Given the description of an element on the screen output the (x, y) to click on. 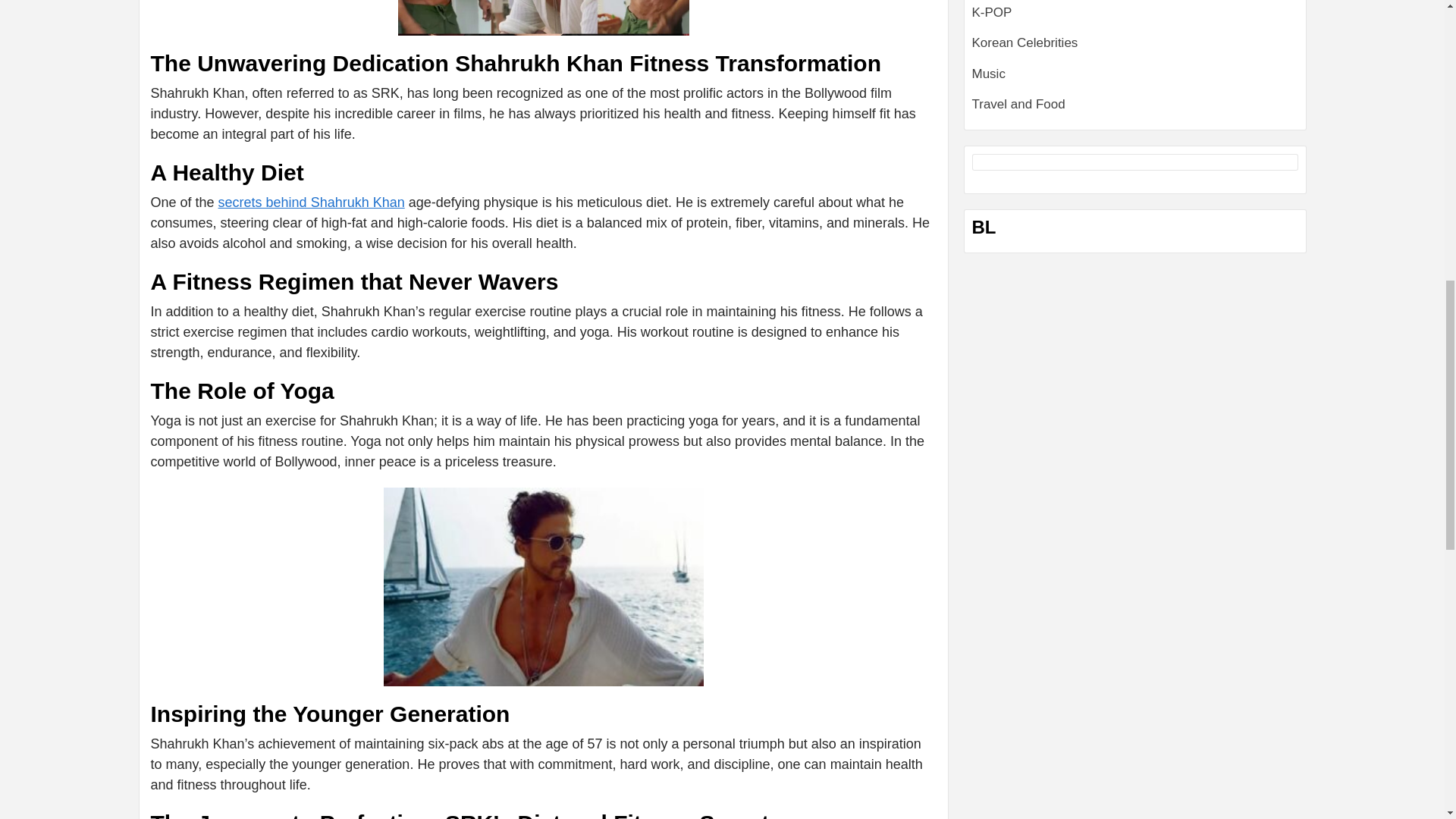
secrets behind Shahrukh Khan (311, 201)
